Given the description of an element on the screen output the (x, y) to click on. 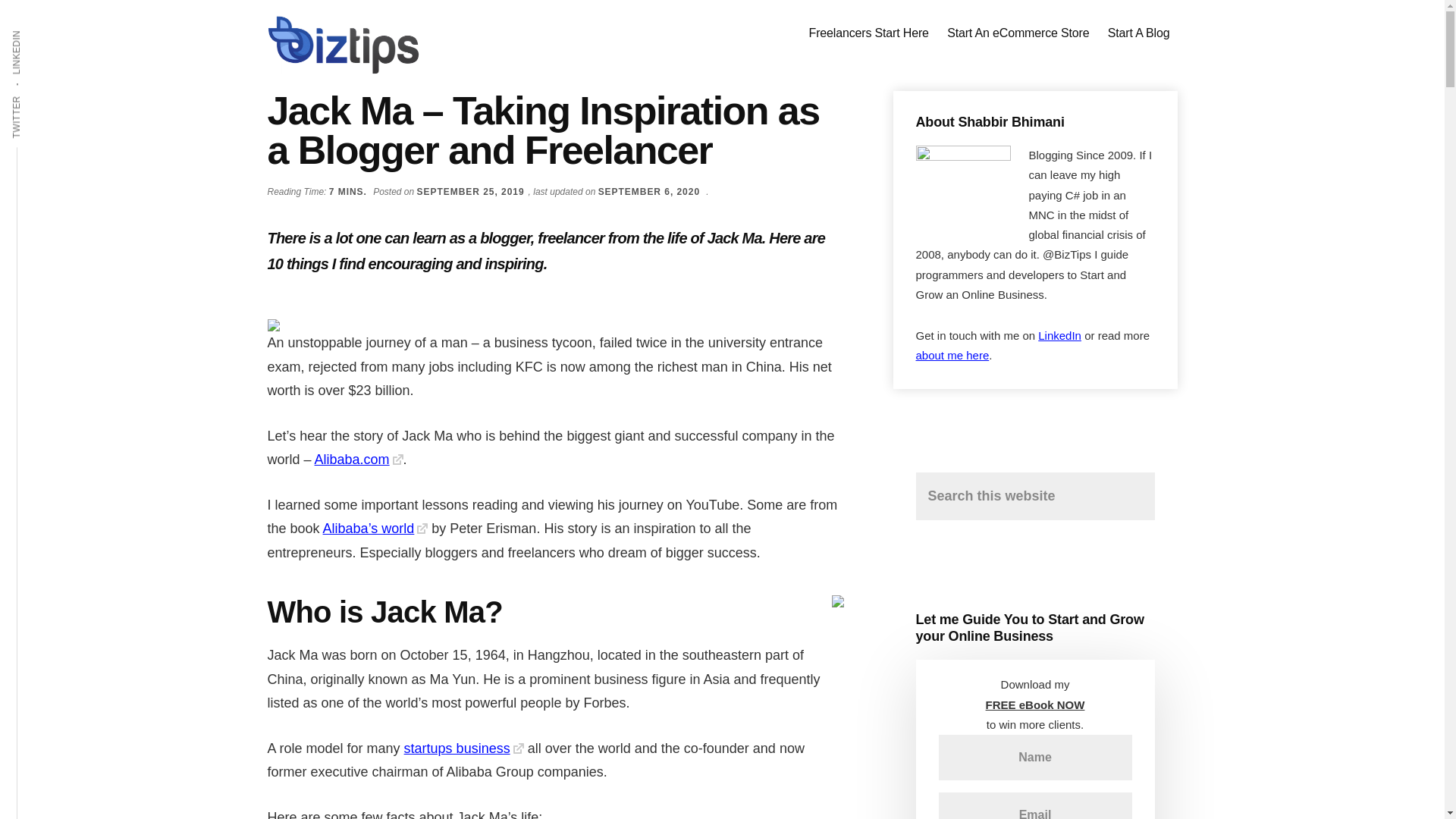
TWITTER (38, 94)
LinkedIn (1059, 335)
startups business (464, 747)
about me here (952, 354)
Start A Blog (1138, 33)
Alibaba.com (358, 459)
Start An eCommerce Store (1017, 33)
BizTips (342, 45)
Freelancers Start Here (869, 33)
LINKEDIN (39, 28)
